Given the description of an element on the screen output the (x, y) to click on. 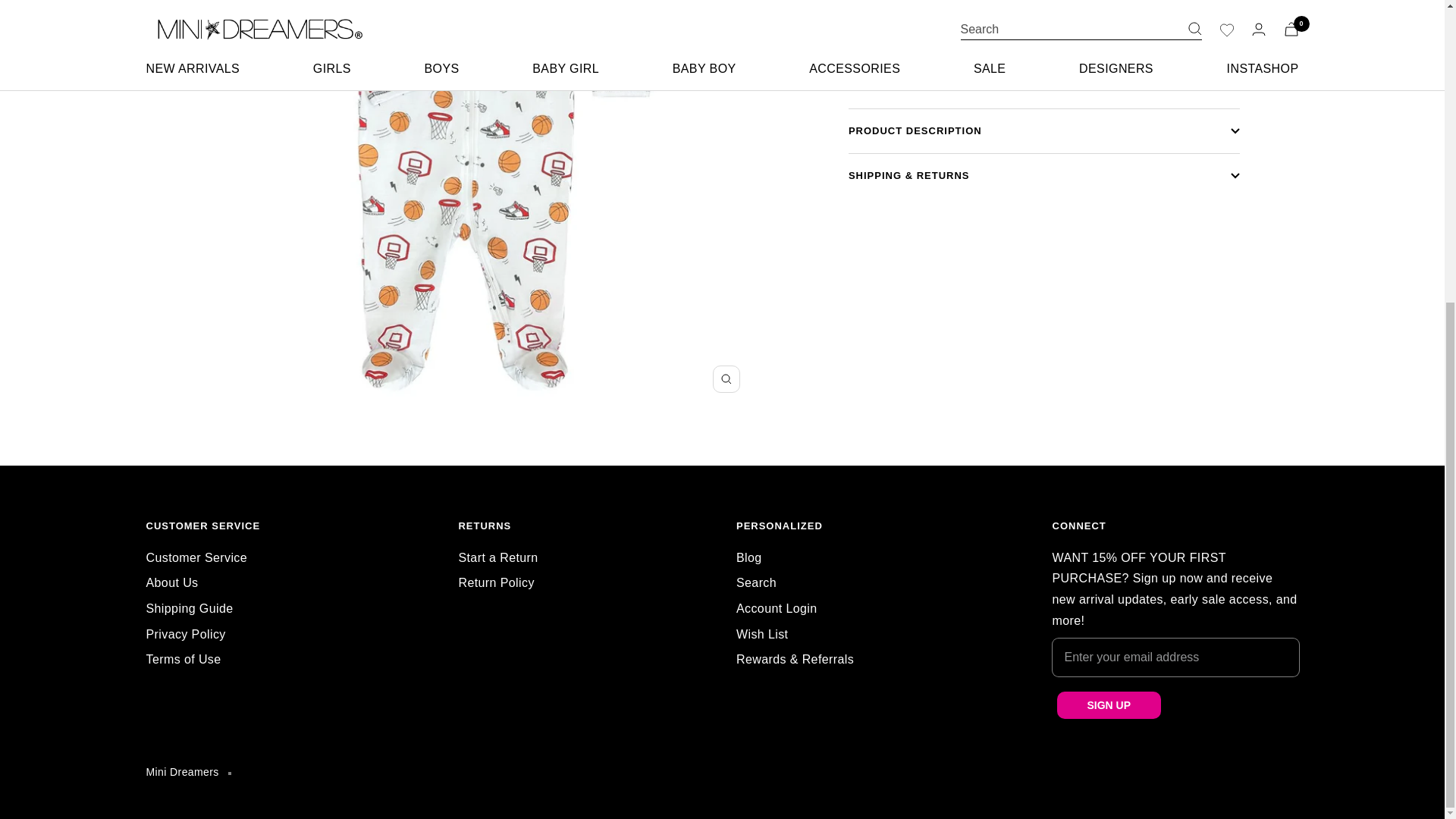
About Us (171, 582)
Decrease quantity (862, 71)
Customer Service (196, 557)
ADD TO CART (1043, 71)
1 (895, 71)
PRODUCT DESCRIPTION (1044, 130)
Increase quantity (927, 71)
